Given the description of an element on the screen output the (x, y) to click on. 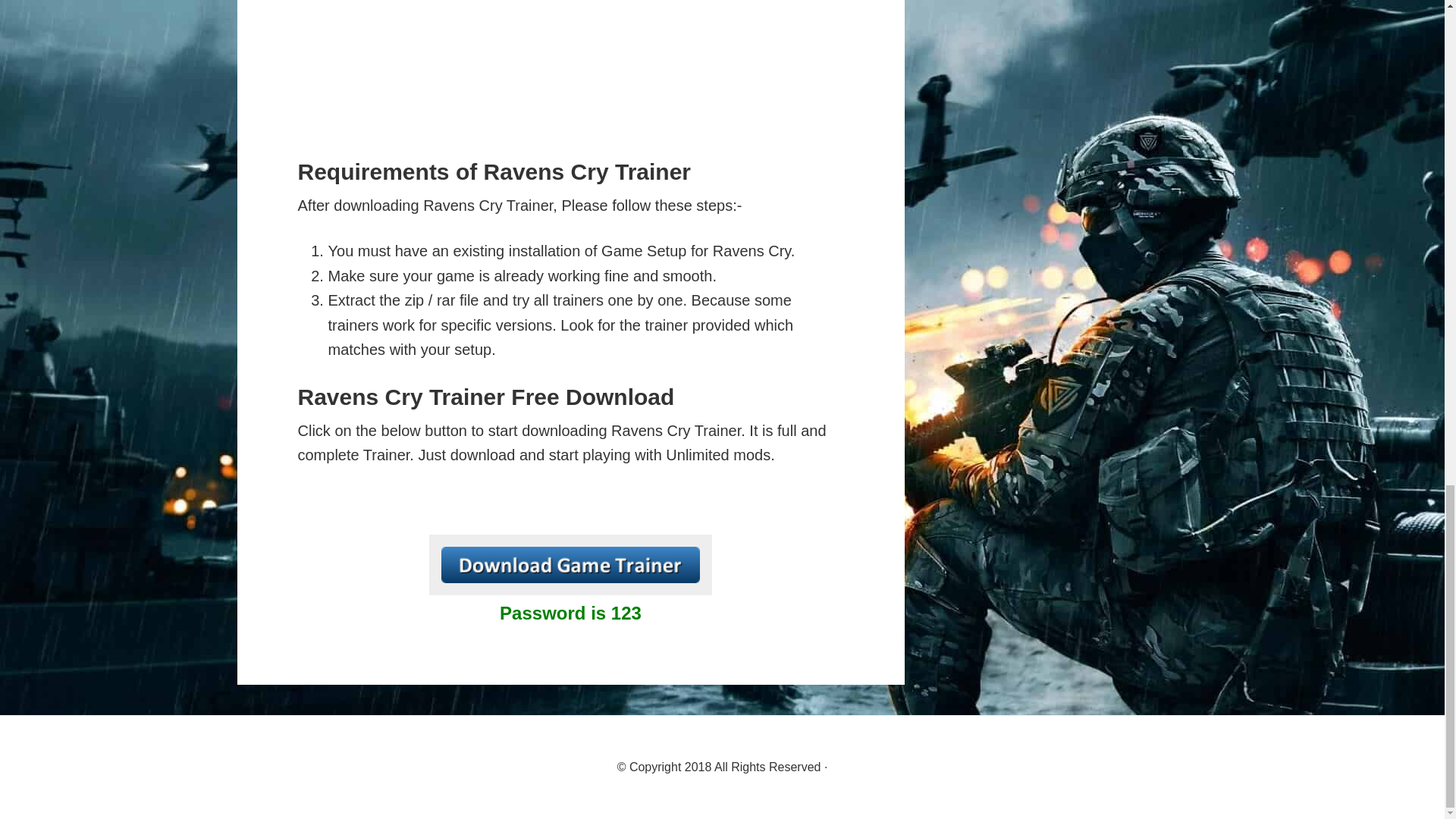
Advertisement (569, 71)
